Given the description of an element on the screen output the (x, y) to click on. 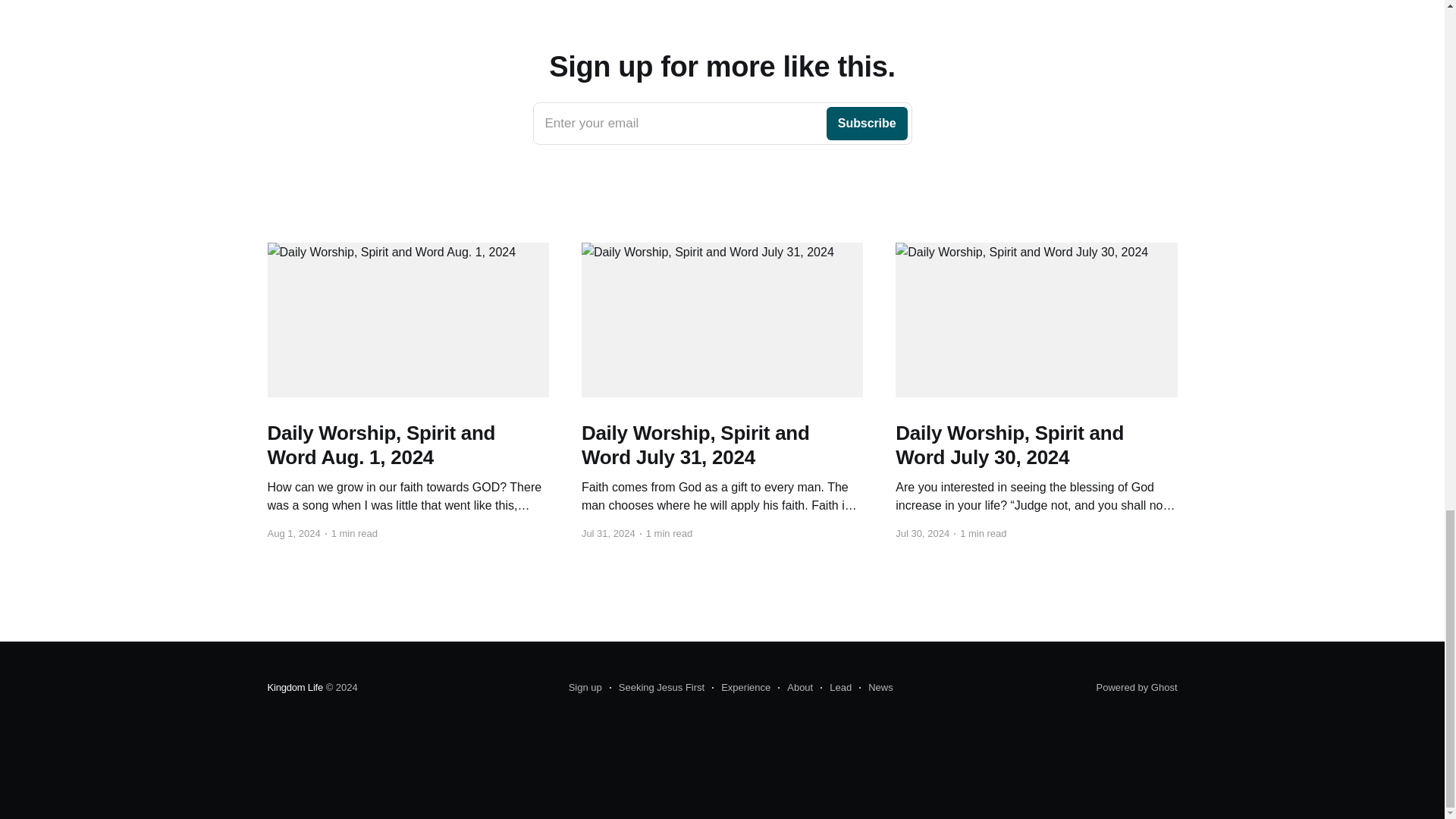
Sign up (585, 687)
Lead (836, 687)
Kingdom Life (294, 686)
Experience (740, 687)
News (876, 687)
Powered by Ghost (1136, 686)
About (721, 123)
Seeking Jesus First (794, 687)
